Given the description of an element on the screen output the (x, y) to click on. 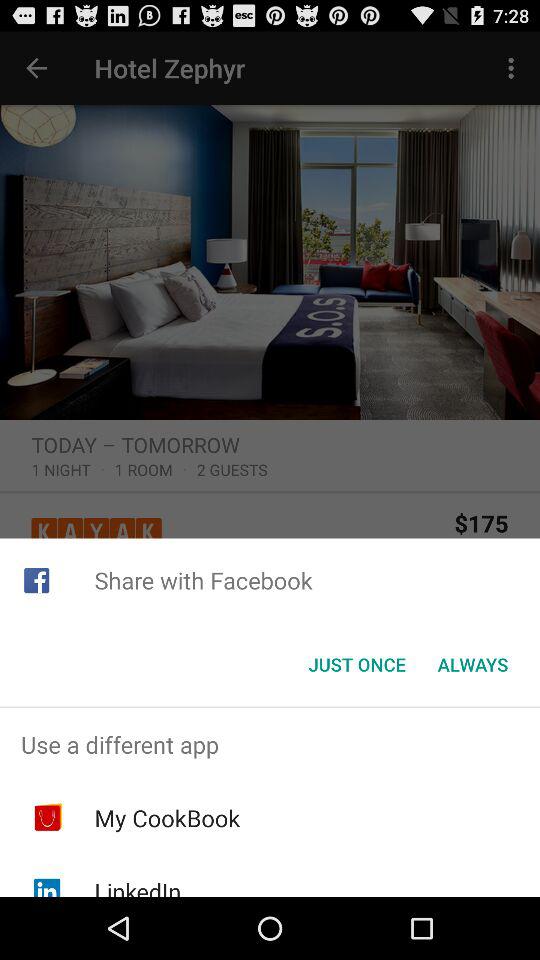
launch icon below the share with facebook app (472, 664)
